Given the description of an element on the screen output the (x, y) to click on. 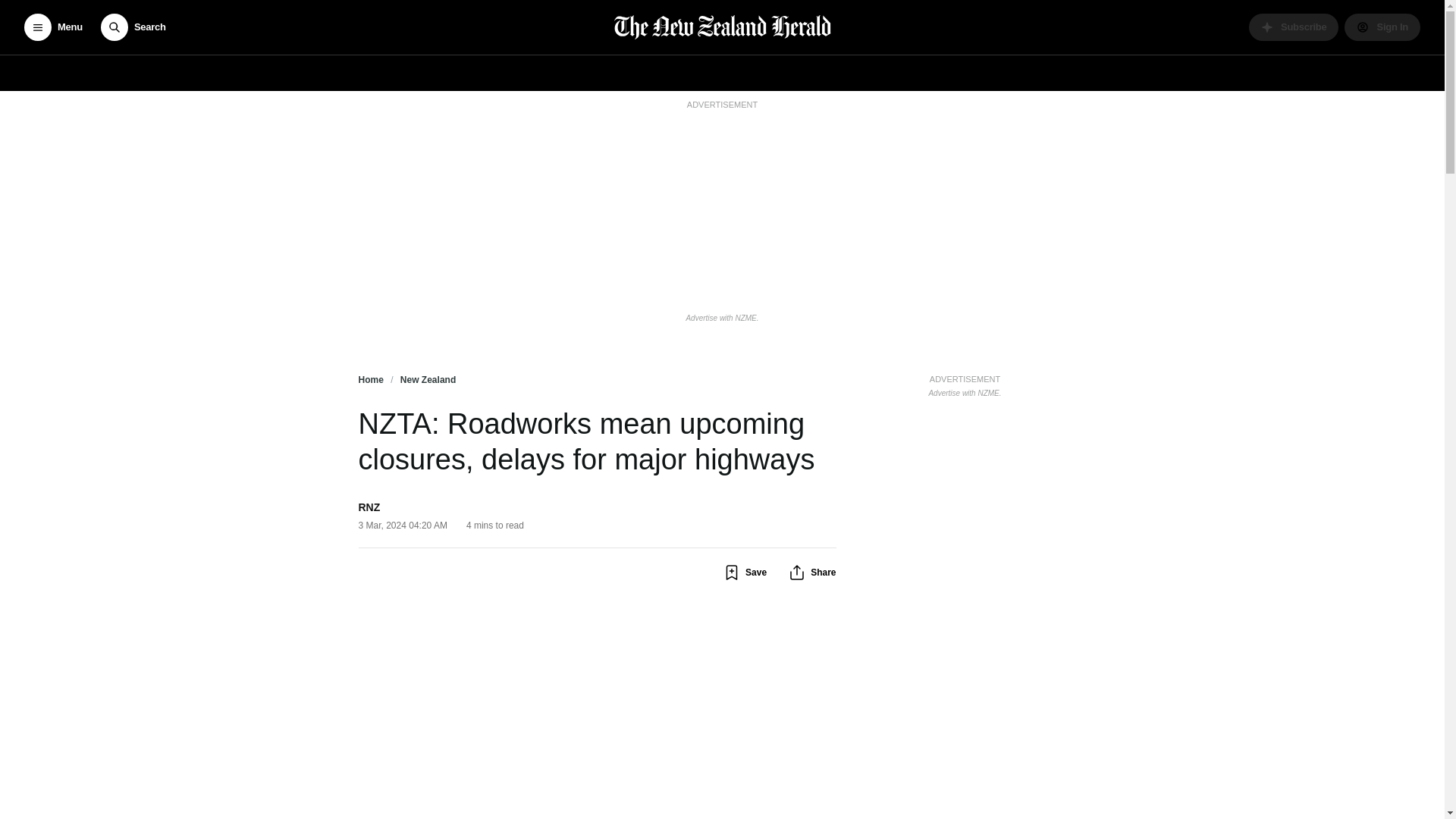
Sign In (1382, 26)
Menu (53, 26)
Manage your account (1382, 26)
Subscribe (1294, 26)
Search (132, 26)
